Given the description of an element on the screen output the (x, y) to click on. 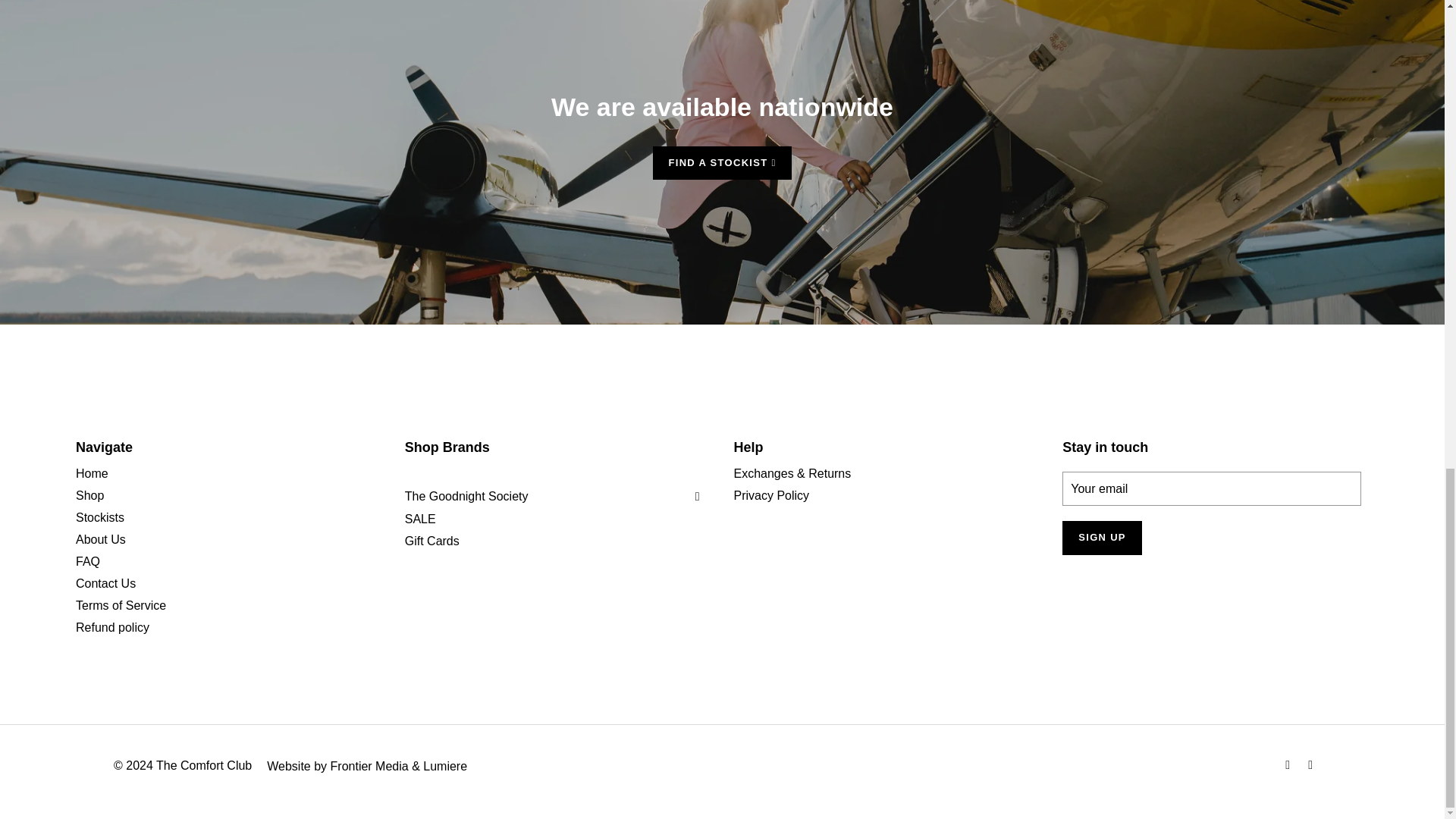
The Comfort Club on Facebook (1288, 764)
The Comfort Club on Instagram (1311, 764)
